Given the description of an element on the screen output the (x, y) to click on. 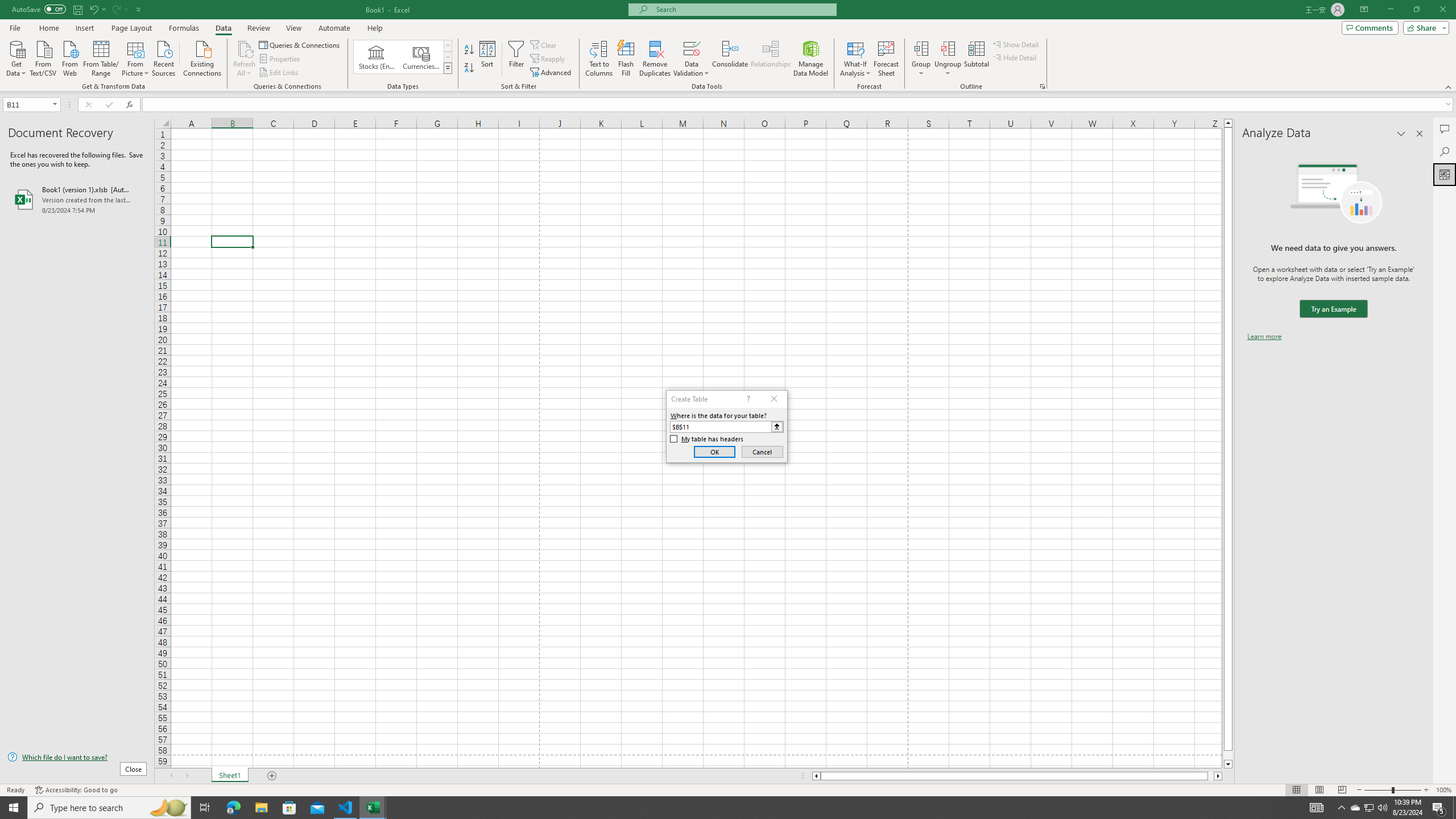
Sort... (487, 58)
Row up (448, 45)
Ungroup... (947, 58)
We need data to give you answers. Try an Example (1333, 308)
Reapply (548, 58)
Group and Outline Settings (1042, 85)
Sort A to Z (469, 49)
